Given the description of an element on the screen output the (x, y) to click on. 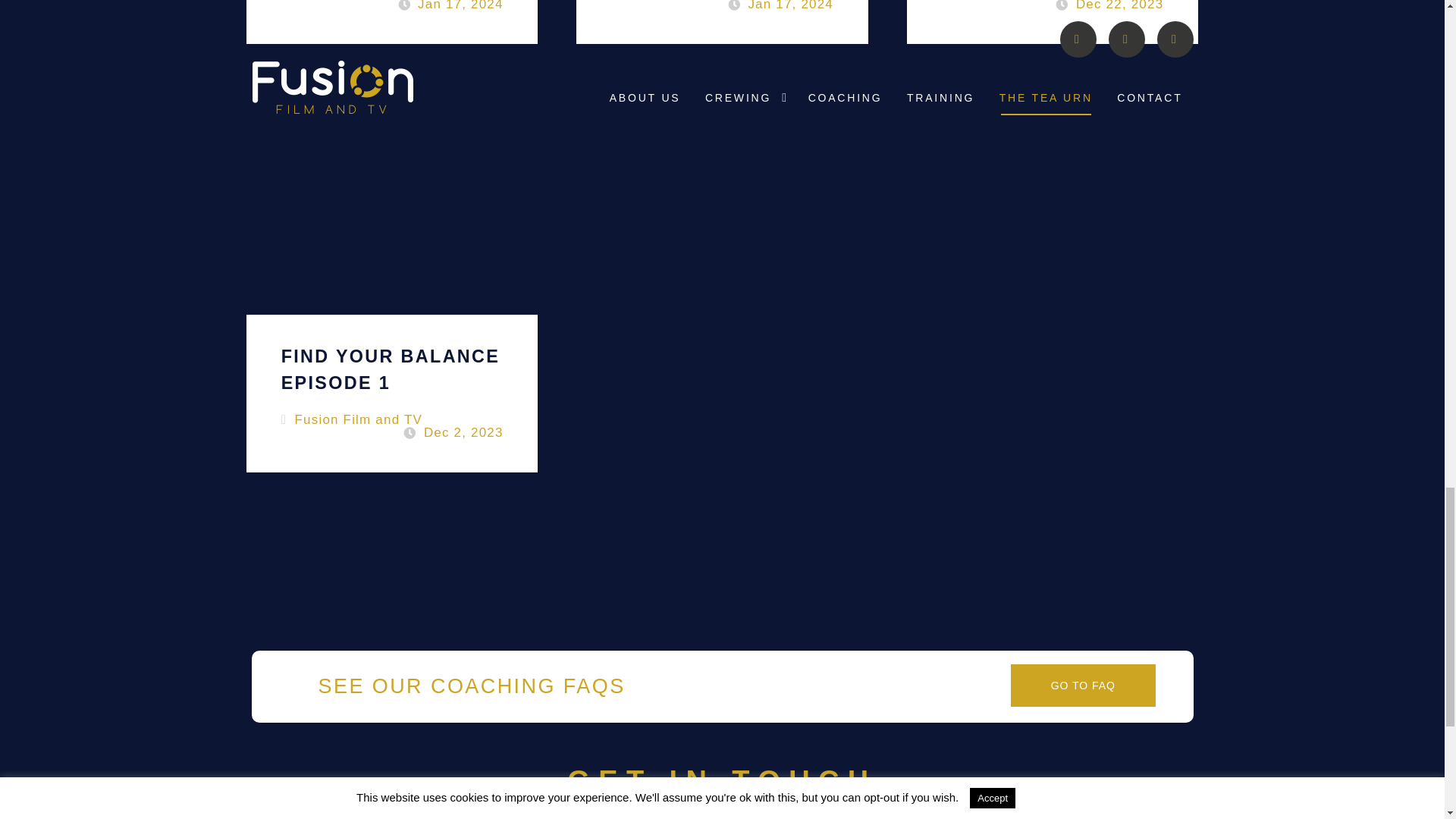
Find Your Balance Episode 4 (1052, 22)
Find Your Balance Episode 2 (391, 22)
